Given the description of an element on the screen output the (x, y) to click on. 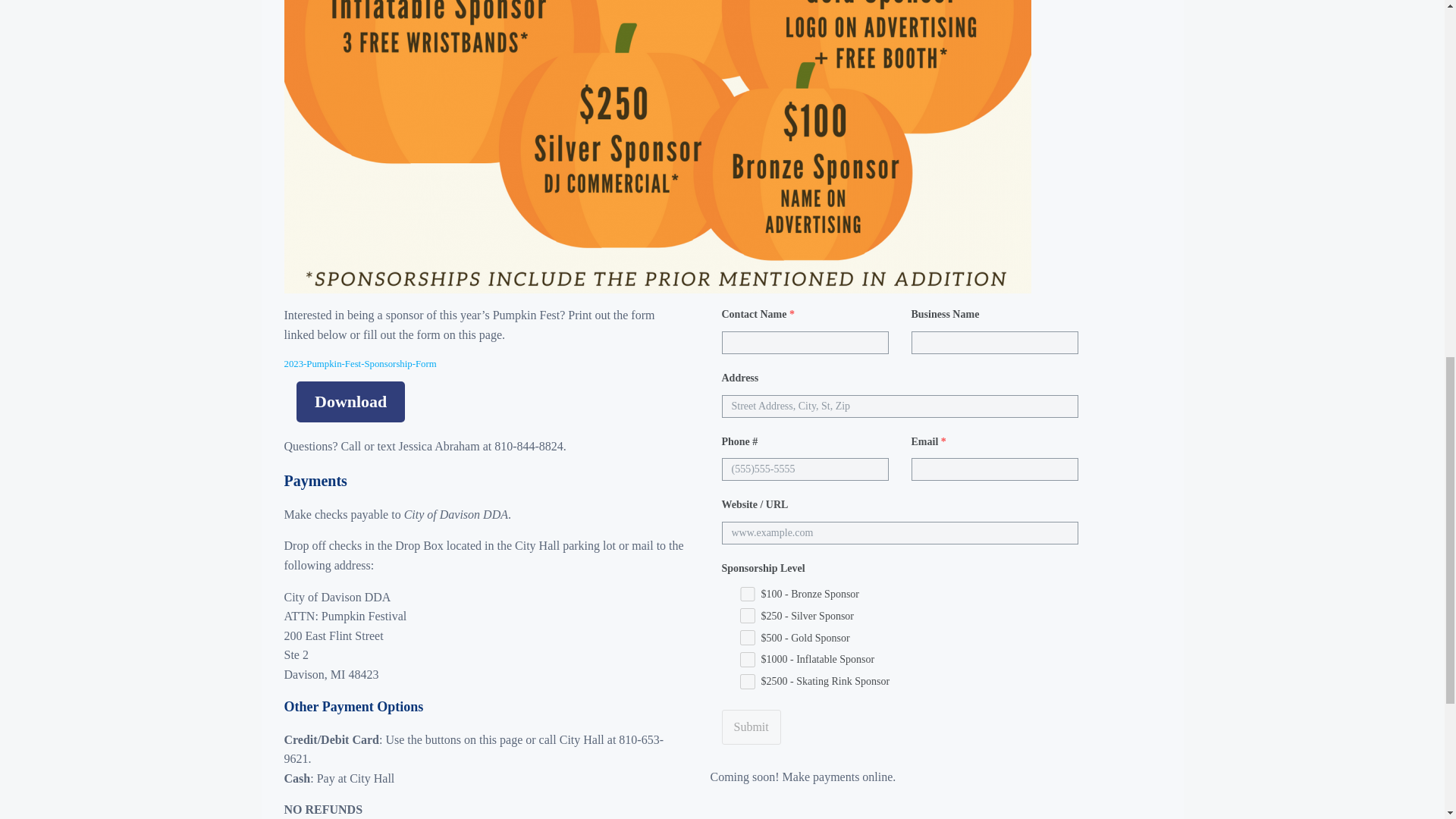
Download (350, 401)
Submit (751, 727)
2023-Pumpkin-Fest-Sponsorship-Form (359, 363)
